Given the description of an element on the screen output the (x, y) to click on. 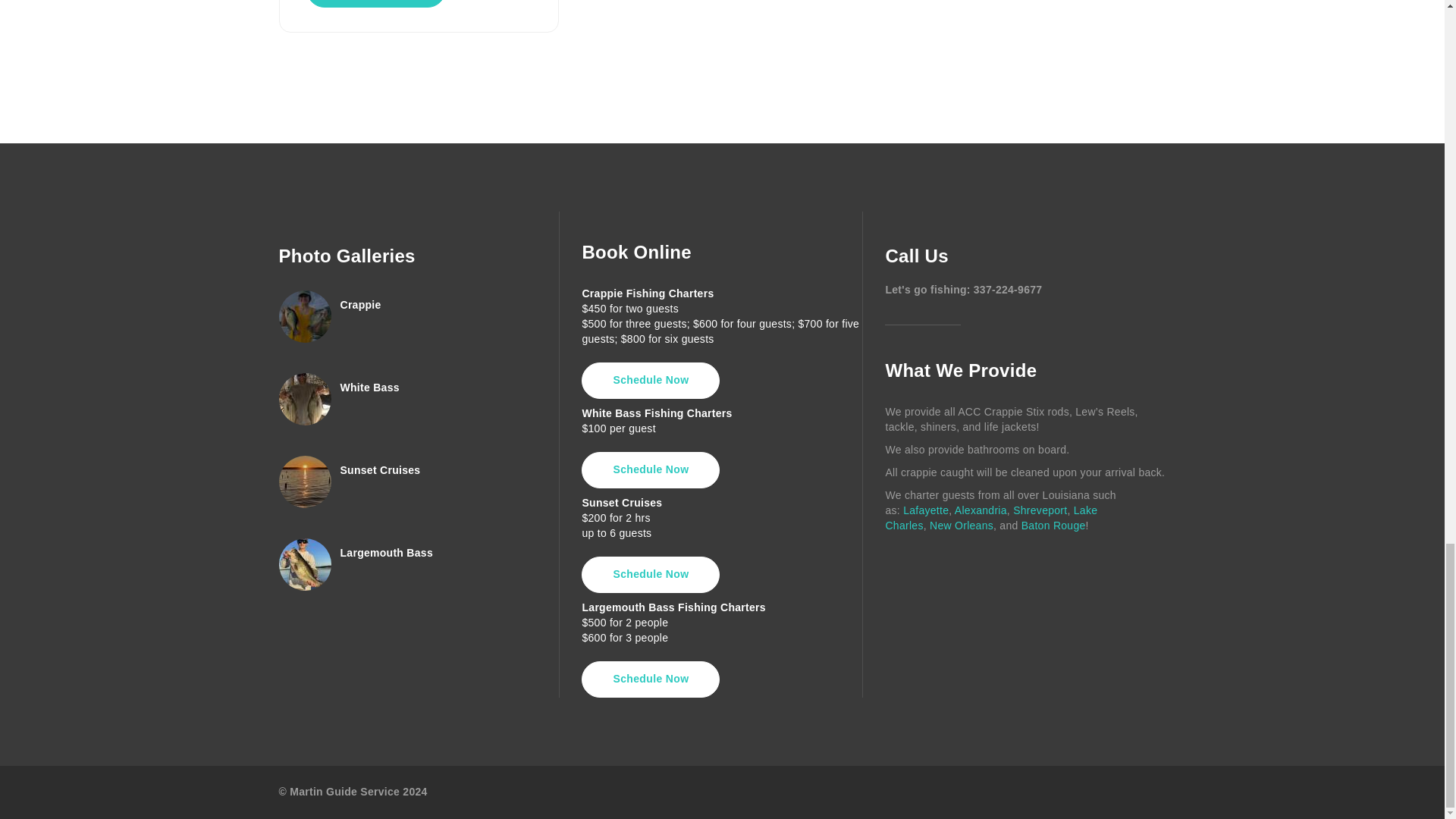
White Bass (368, 387)
Schedule Now (649, 574)
Schedule Now (649, 678)
Baton Rouge (1054, 525)
Largemouth Bass (385, 552)
Crappie (359, 304)
Schedule Now (649, 470)
New Orleans (961, 525)
Schedule Now (649, 380)
Lake Charles (991, 517)
Shreveport (1040, 510)
Schedule now! (375, 3)
Lafayette (925, 510)
Sunset Cruises (379, 469)
Alexandria (981, 510)
